Given the description of an element on the screen output the (x, y) to click on. 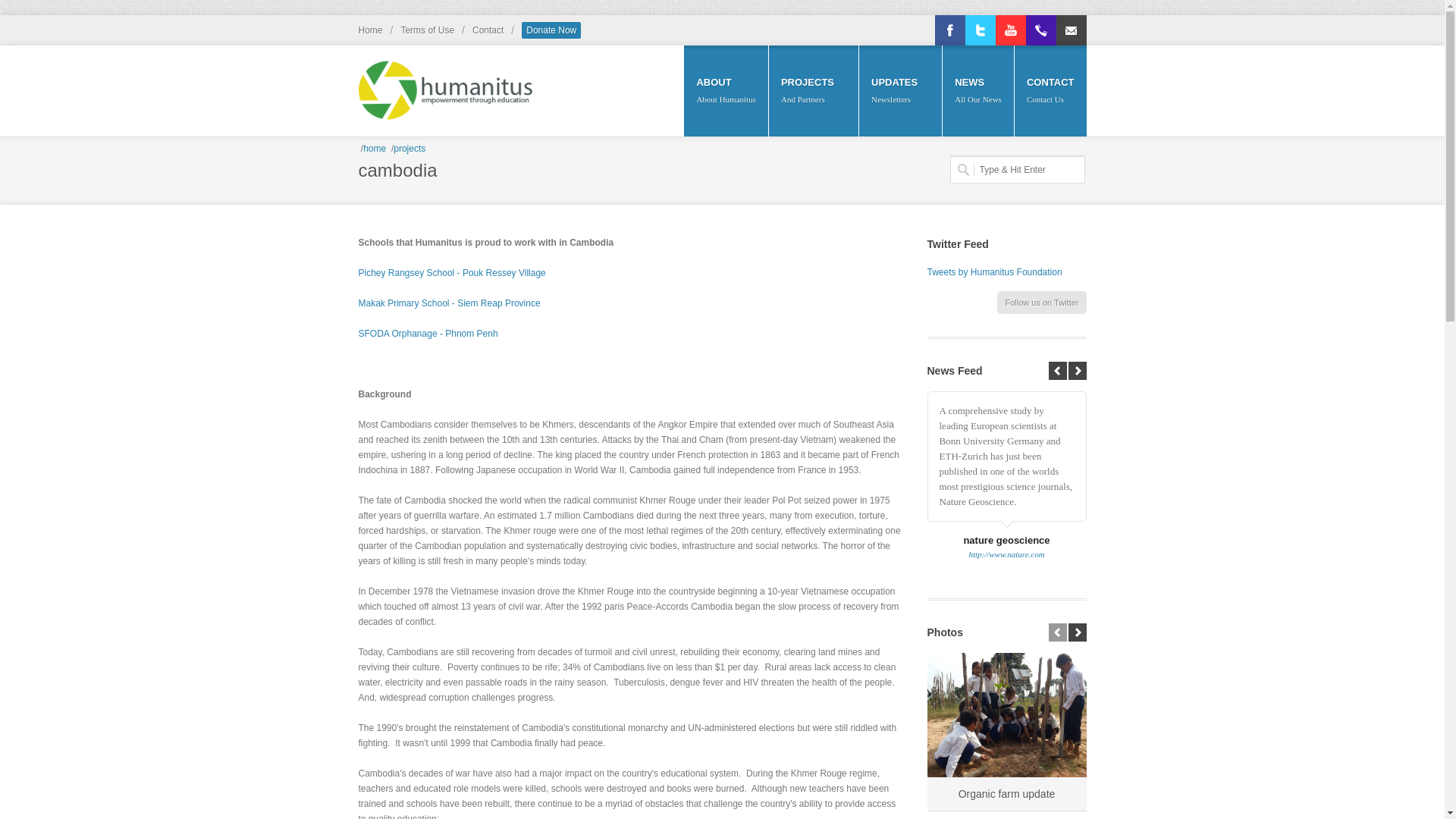
Humanitus Logo (445, 82)
Pichey Rangsey School (451, 272)
IMG 7593 (1006, 714)
Organic farm update (1006, 793)
Mkak Primary School (449, 303)
SFODA Orphanage (427, 333)
